Given the description of an element on the screen output the (x, y) to click on. 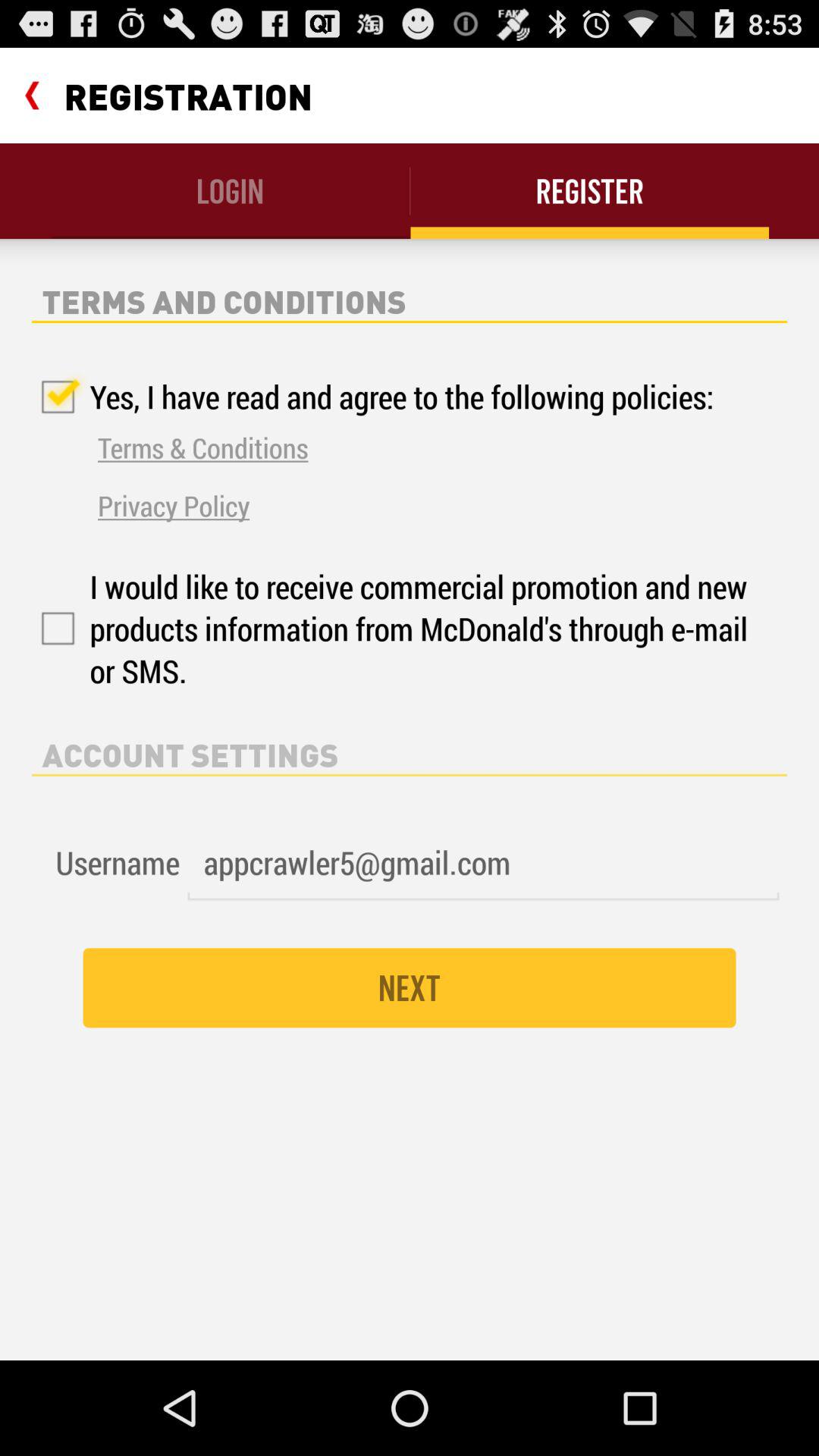
open i would like (393, 628)
